Given the description of an element on the screen output the (x, y) to click on. 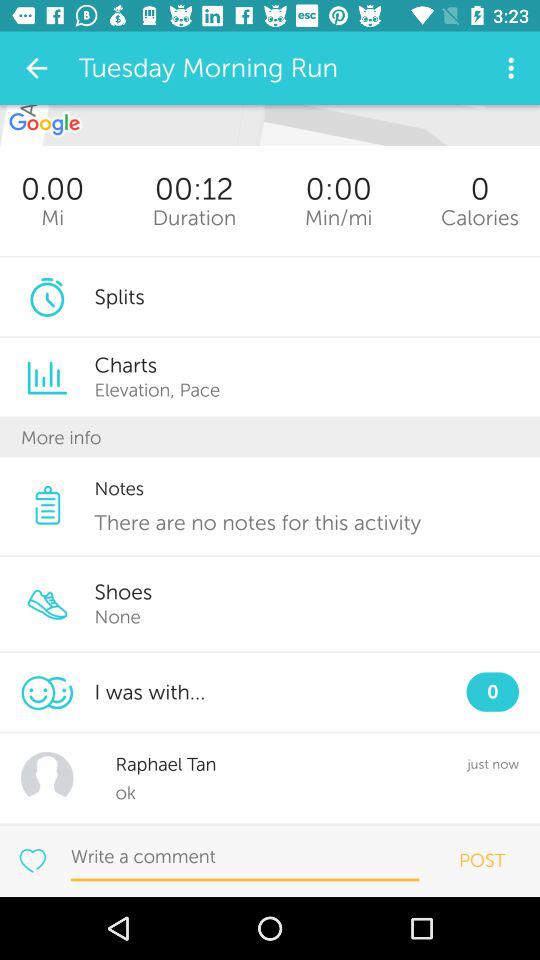
write comment here (244, 857)
